Given the description of an element on the screen output the (x, y) to click on. 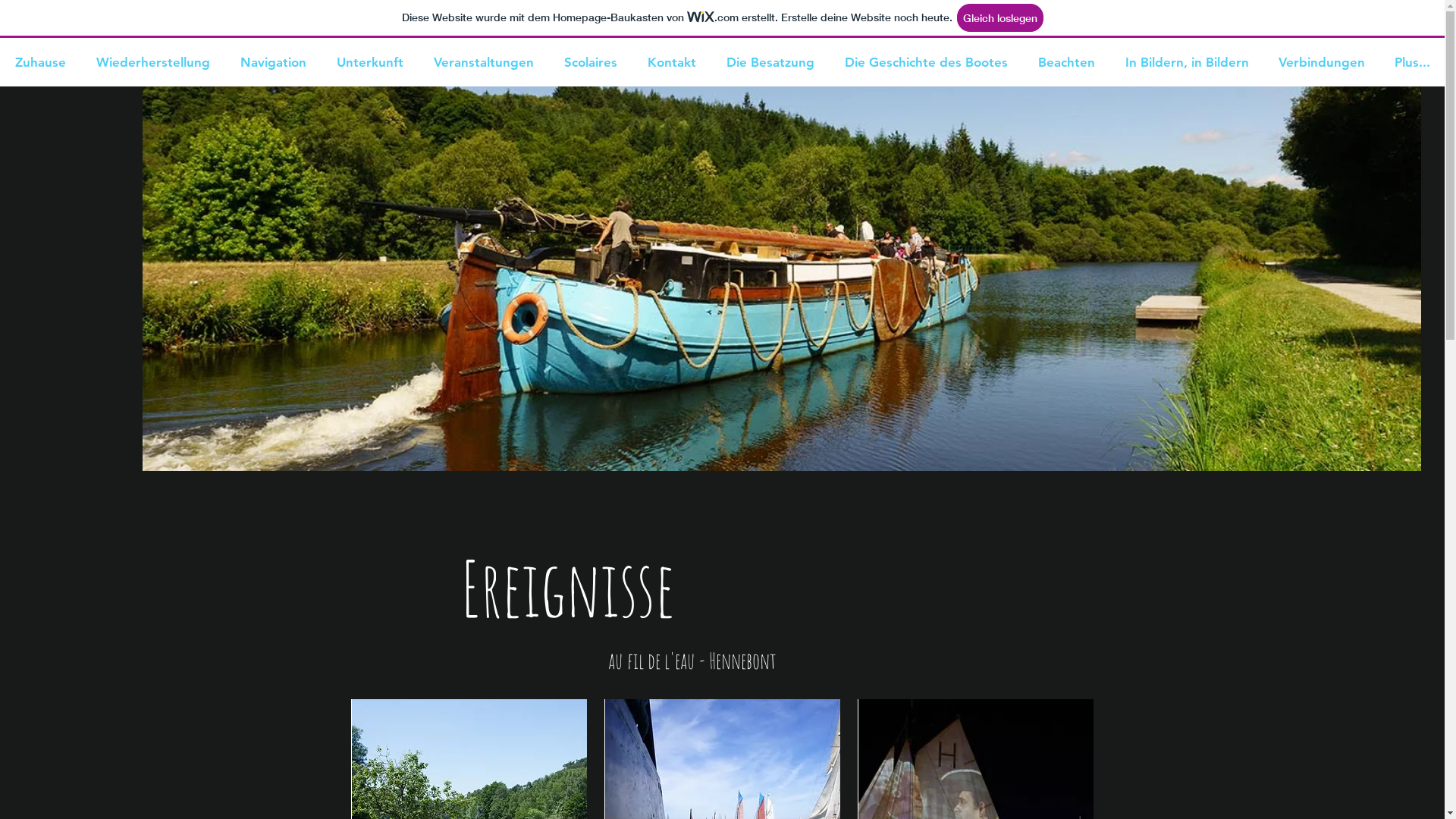
In Bildern, in Bildern Element type: text (1186, 61)
Zuhause Element type: text (40, 61)
au fil de l'eau - Hennebont Element type: text (692, 663)
Die Geschichte des Bootes Element type: text (925, 61)
Navigation Element type: text (272, 61)
Veranstaltungen Element type: text (482, 61)
Beachten Element type: text (1065, 61)
Verbindungen Element type: text (1321, 61)
Wiederherstellung Element type: text (152, 61)
Die Besatzung Element type: text (769, 61)
Kontakt Element type: text (670, 61)
Scolaires Element type: text (589, 61)
Unterkunft Element type: text (368, 61)
